Given the description of an element on the screen output the (x, y) to click on. 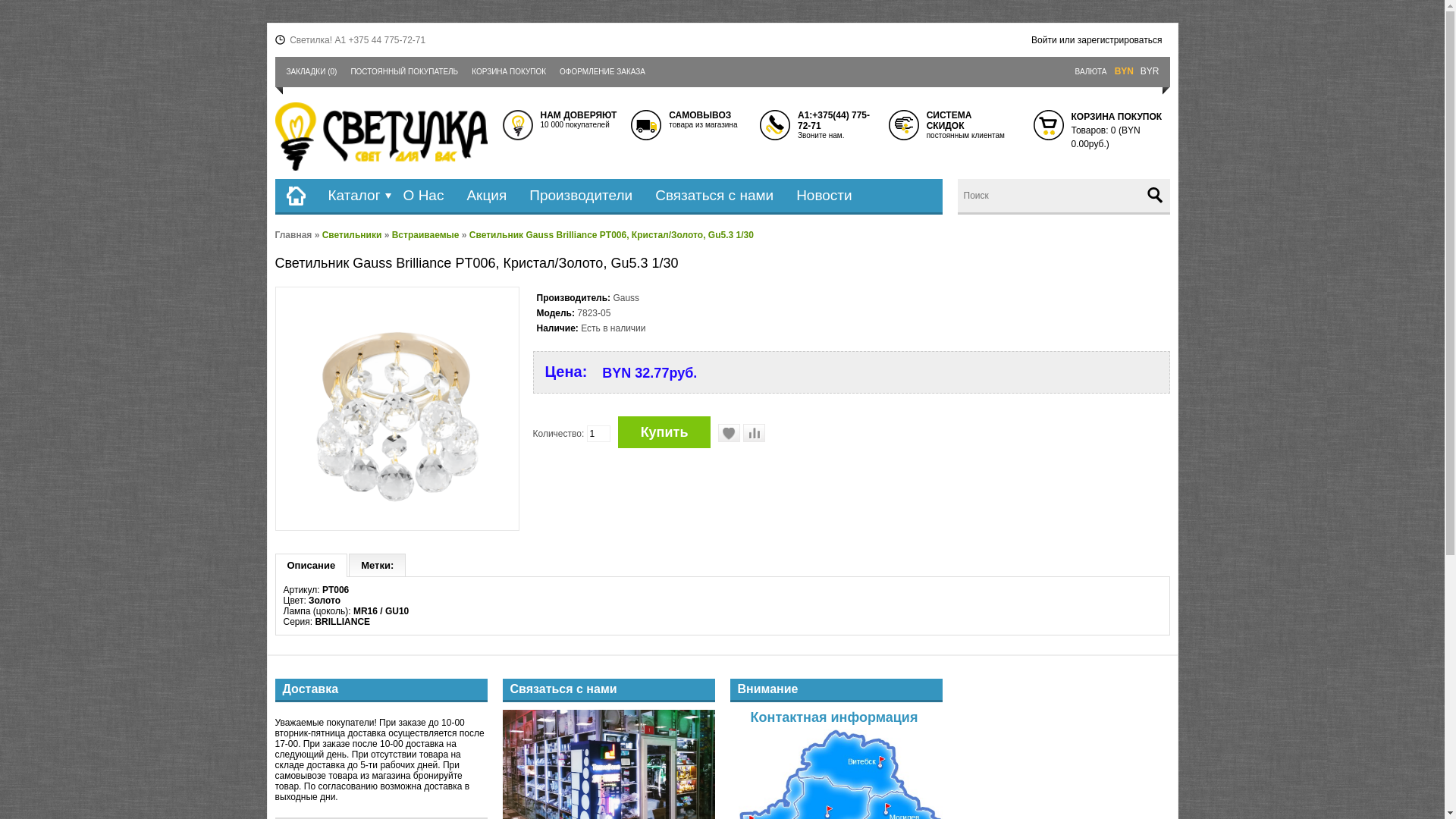
BYR Element type: text (1150, 71)
Gauss Element type: text (625, 297)
BYN Element type: text (1124, 71)
